Given the description of an element on the screen output the (x, y) to click on. 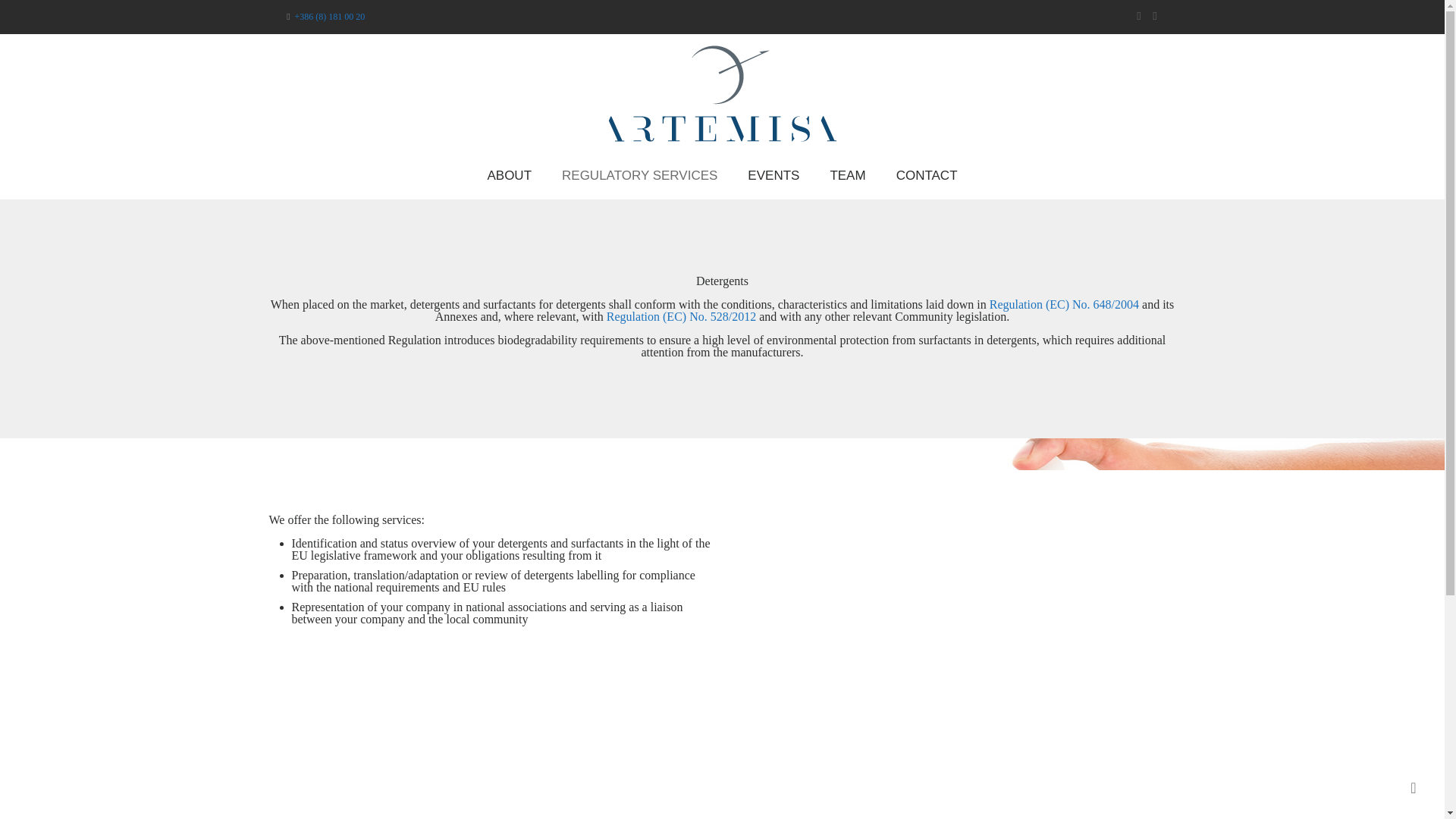
EVENTS (772, 176)
ABOUT (509, 176)
TEAM (846, 176)
LinkedIn (1138, 15)
CONTACT (926, 176)
REGULATORY SERVICES (639, 176)
